Given the description of an element on the screen output the (x, y) to click on. 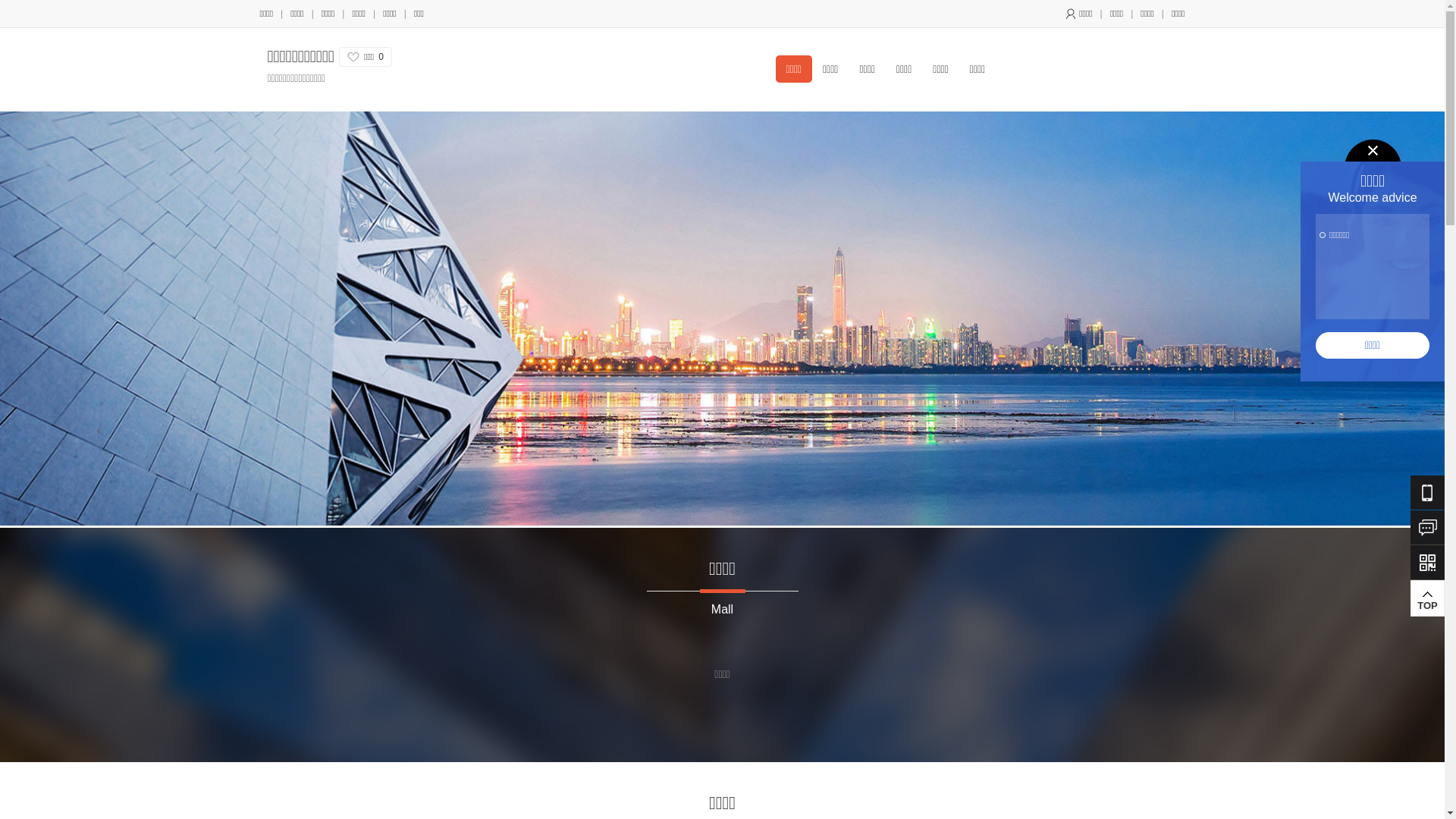
TOP Element type: text (1427, 597)
